Given the description of an element on the screen output the (x, y) to click on. 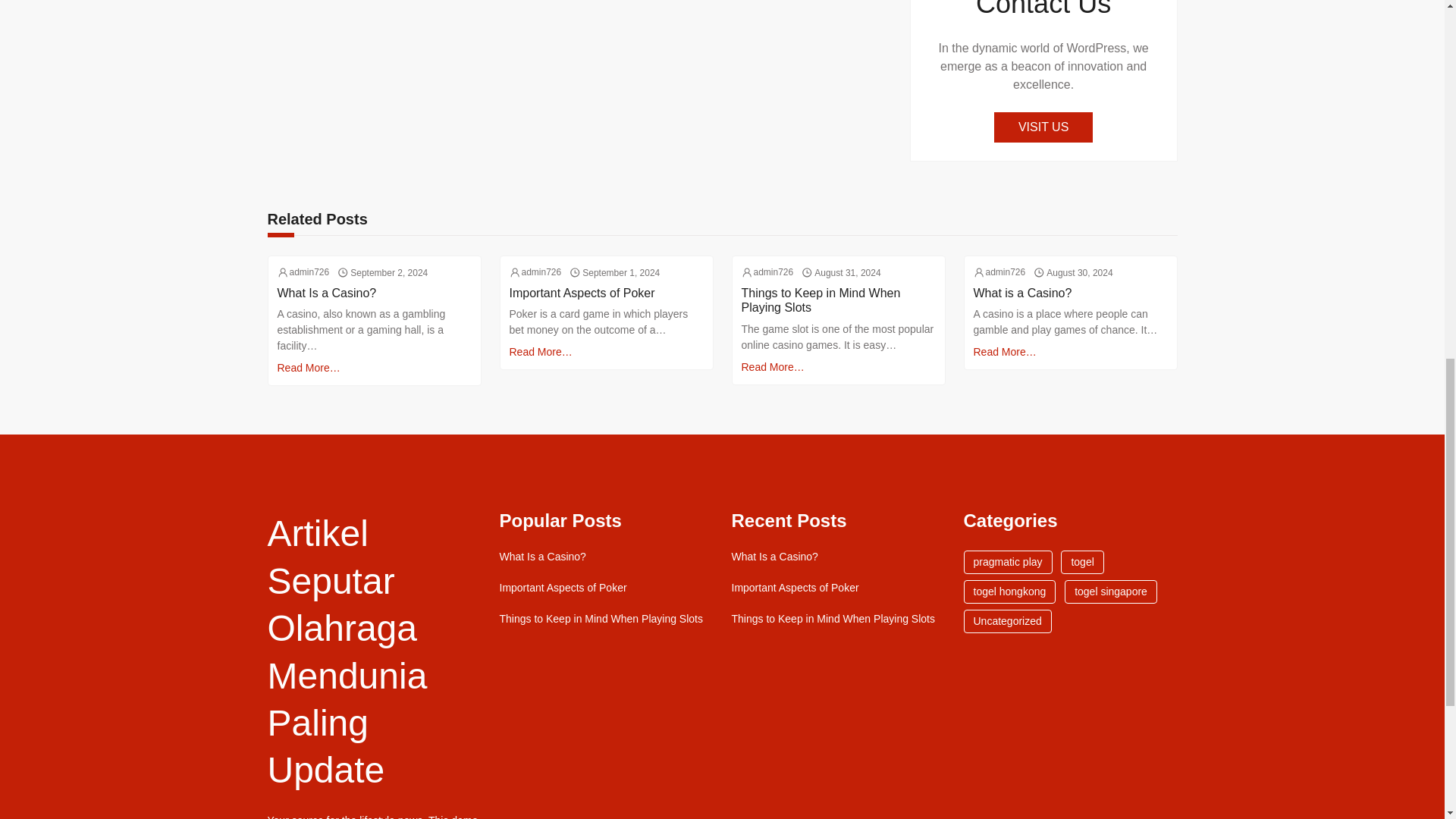
Things to Keep in Mind When Playing Slots (832, 618)
Important Aspects of Poker (794, 587)
What Is a Casino? (327, 292)
What Is a Casino? (542, 556)
Important Aspects of Poker (582, 292)
VISIT US (1043, 127)
What Is a Casino? (773, 556)
Things to Keep in Mind When Playing Slots (600, 618)
pragmatic play (1006, 562)
Things to Keep in Mind When Playing Slots (838, 299)
